Given the description of an element on the screen output the (x, y) to click on. 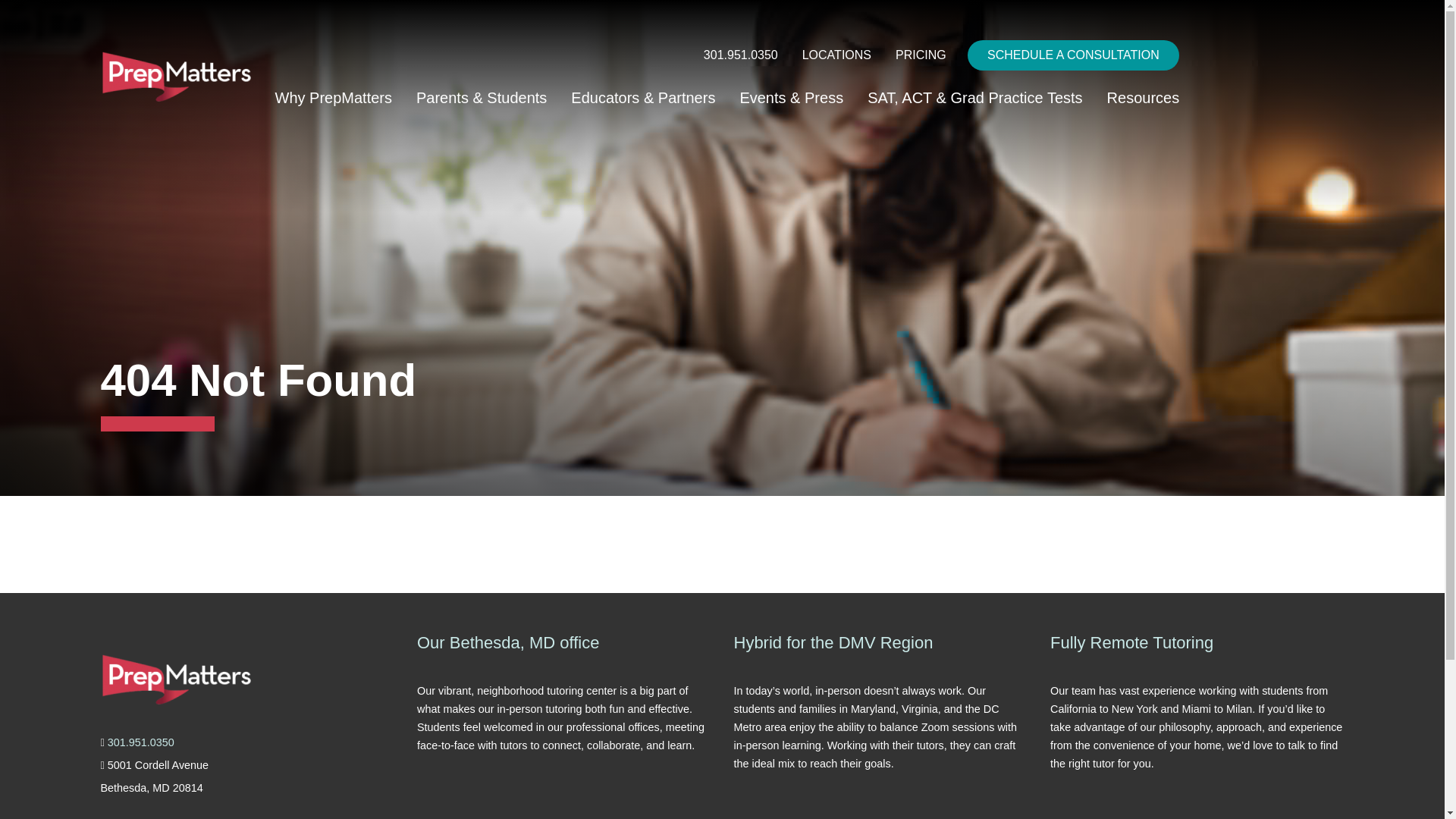
LOCATIONS (837, 55)
Resources (1143, 97)
PRICING (920, 55)
301.951.0350 (740, 55)
Why PrepMatters (332, 97)
SCHEDULE A CONSULTATION (1073, 55)
